Given the description of an element on the screen output the (x, y) to click on. 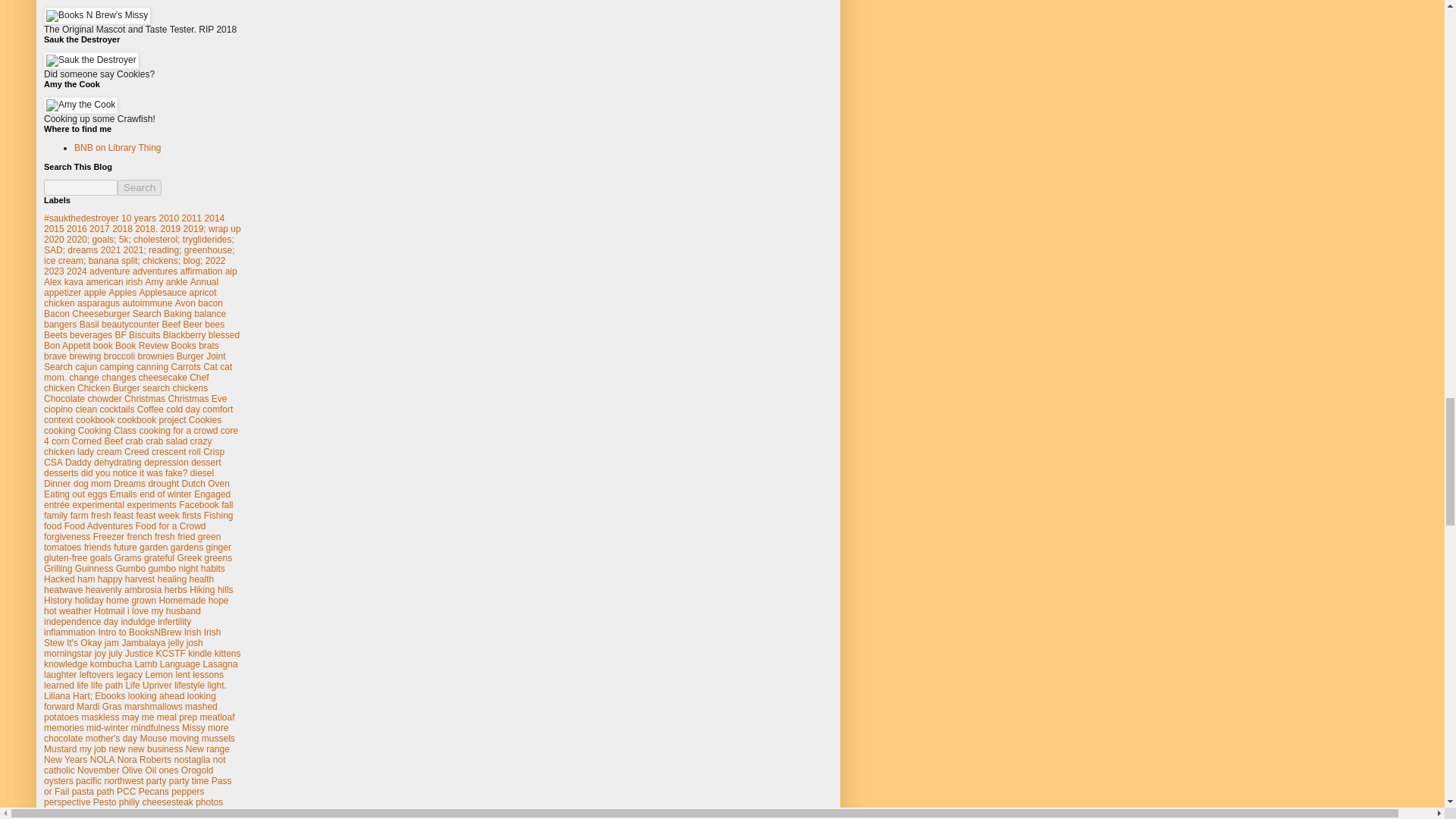
2016 (76, 228)
Search (139, 187)
BNB on Library Thing (117, 147)
10 years (137, 217)
Search (139, 187)
2010 (168, 217)
search (80, 187)
Search (139, 187)
2011 (192, 217)
search (139, 187)
2015 (53, 228)
2014 (215, 217)
